Given the description of an element on the screen output the (x, y) to click on. 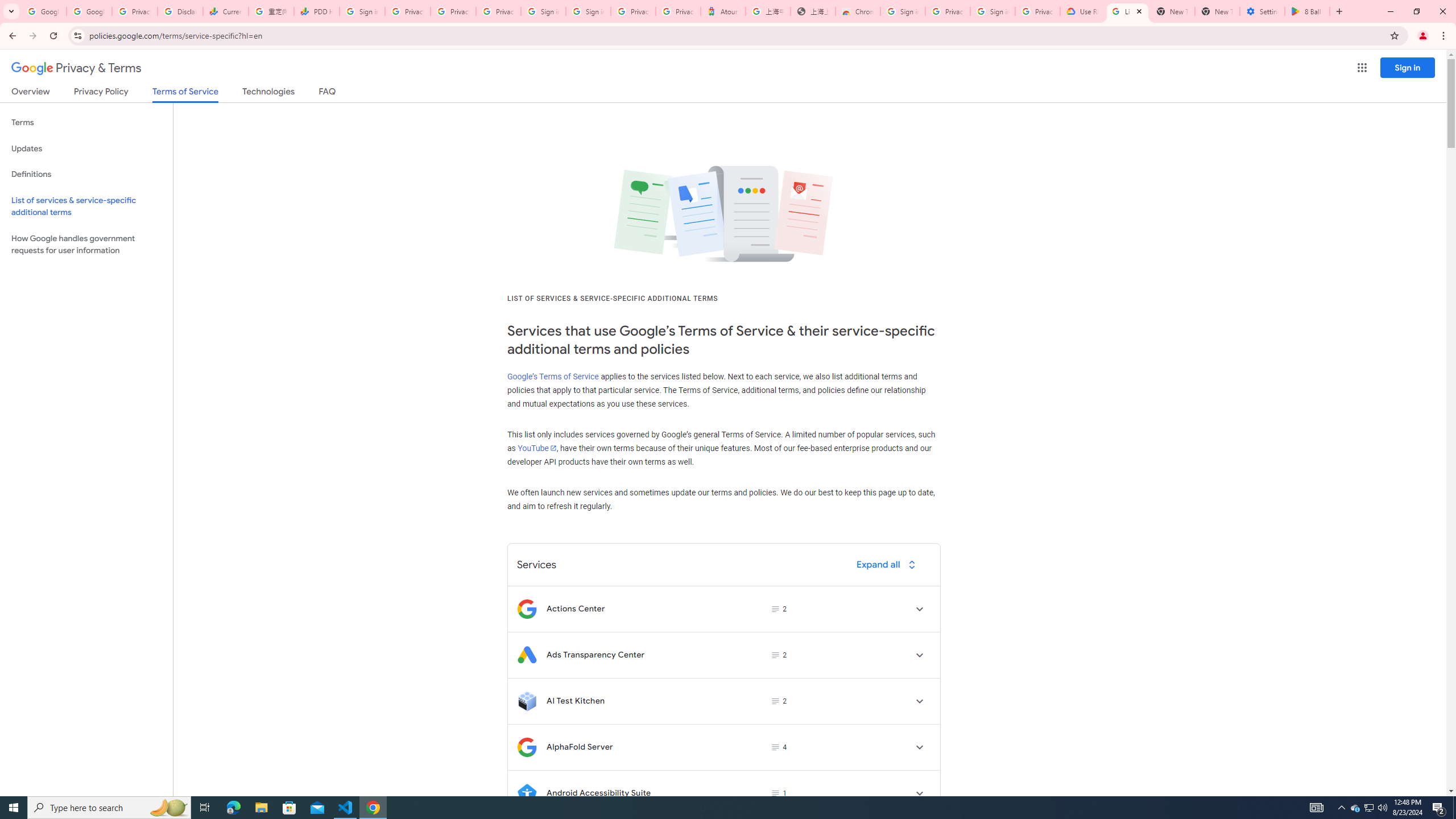
YouTube (536, 447)
Logo for Actions Center (526, 608)
Sign in - Google Accounts (992, 11)
Chrome Web Store - Color themes by Chrome (857, 11)
